Given the description of an element on the screen output the (x, y) to click on. 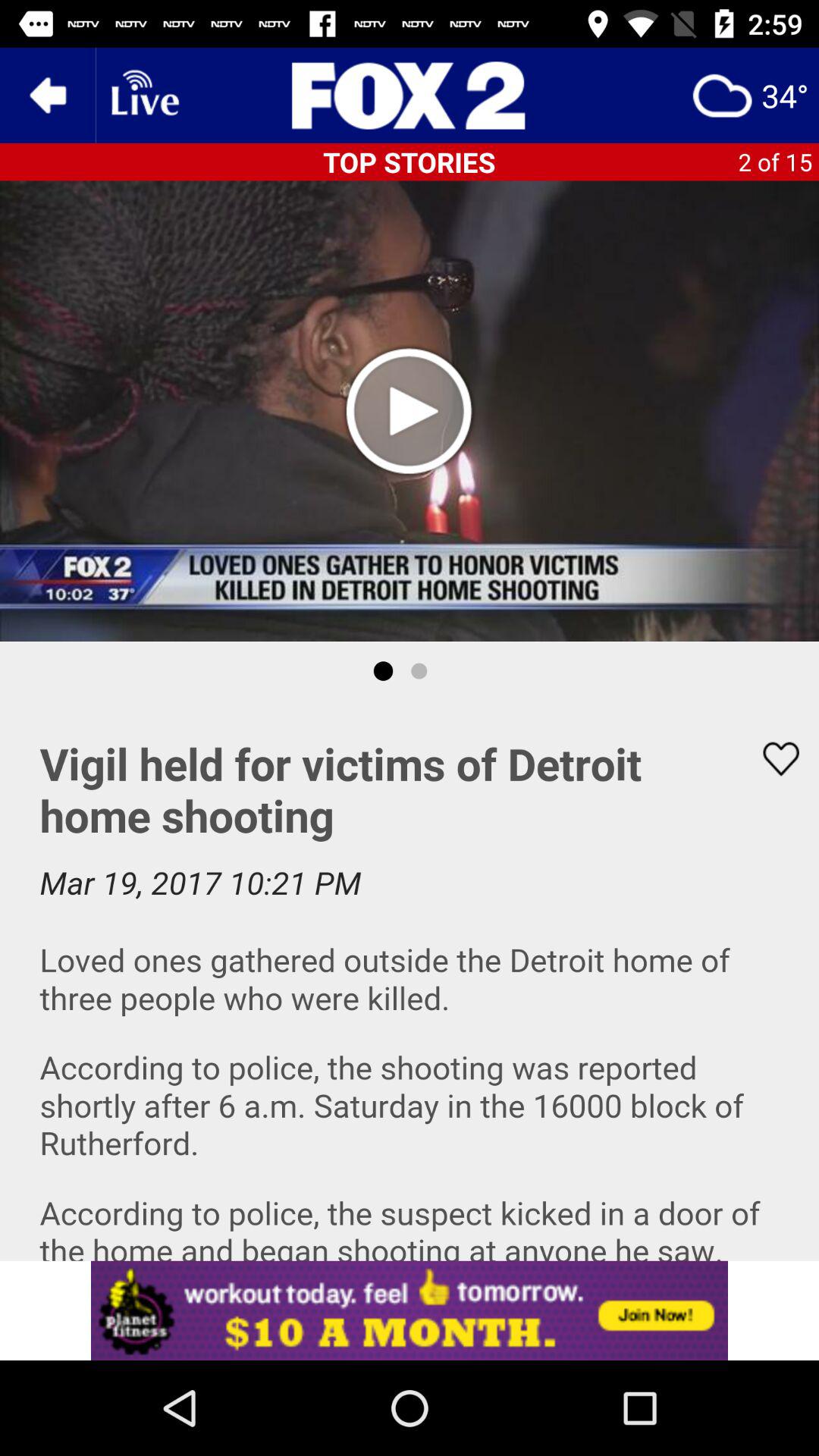
description (409, 980)
